Given the description of an element on the screen output the (x, y) to click on. 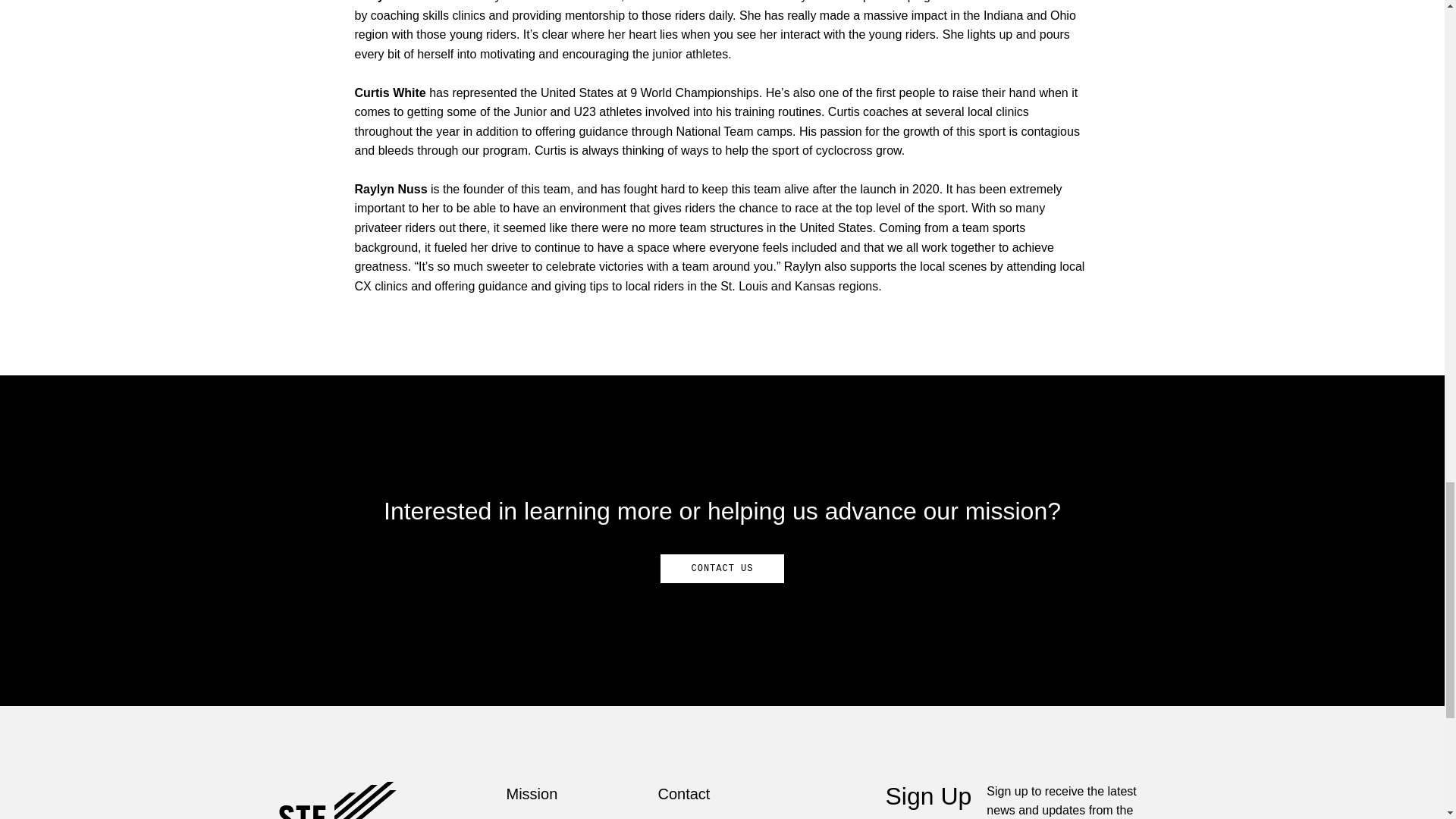
CONTACT US (721, 568)
Mission (531, 793)
